Given the description of an element on the screen output the (x, y) to click on. 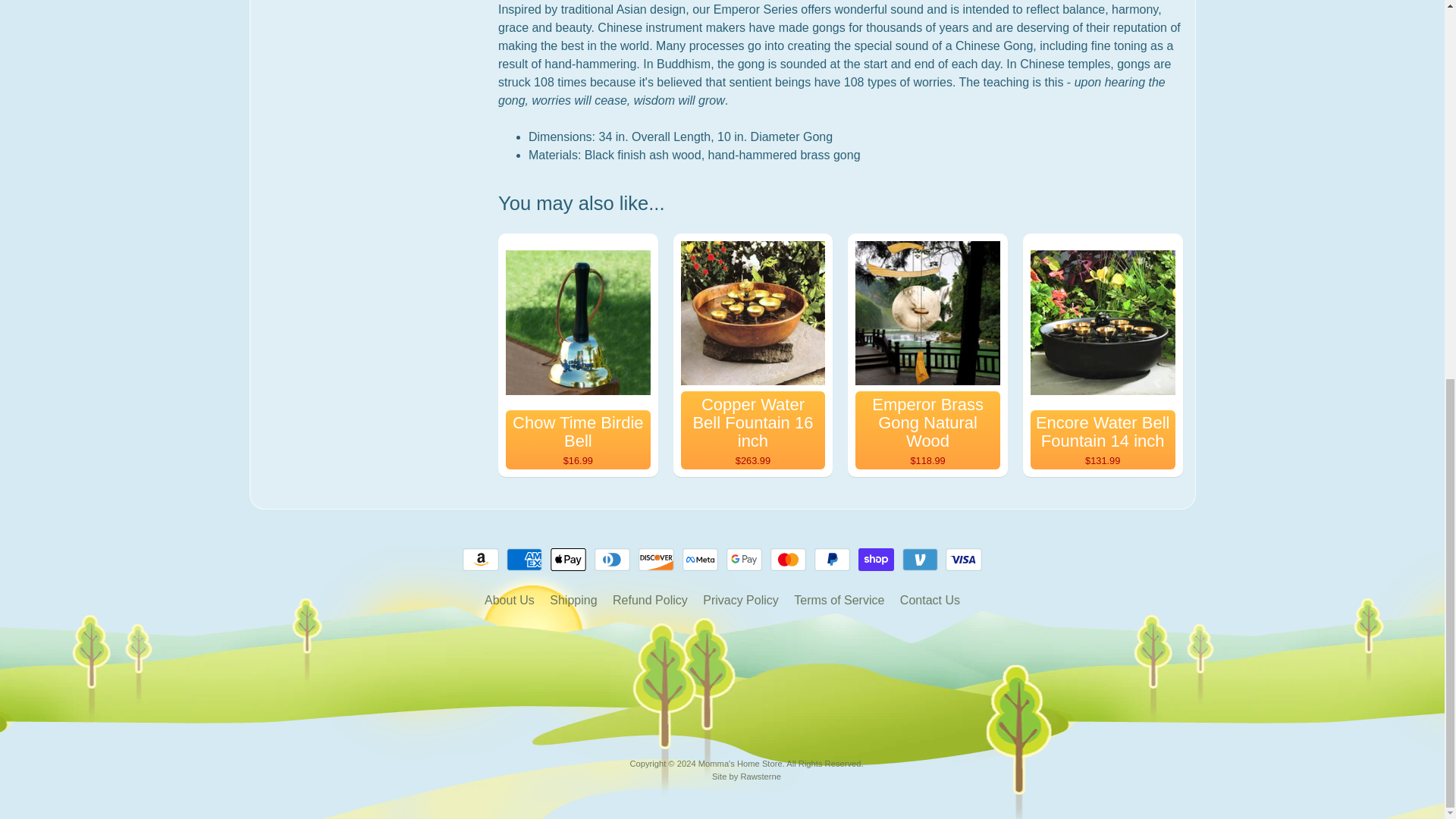
Shopify theme by Rawsterne (745, 776)
